Given the description of an element on the screen output the (x, y) to click on. 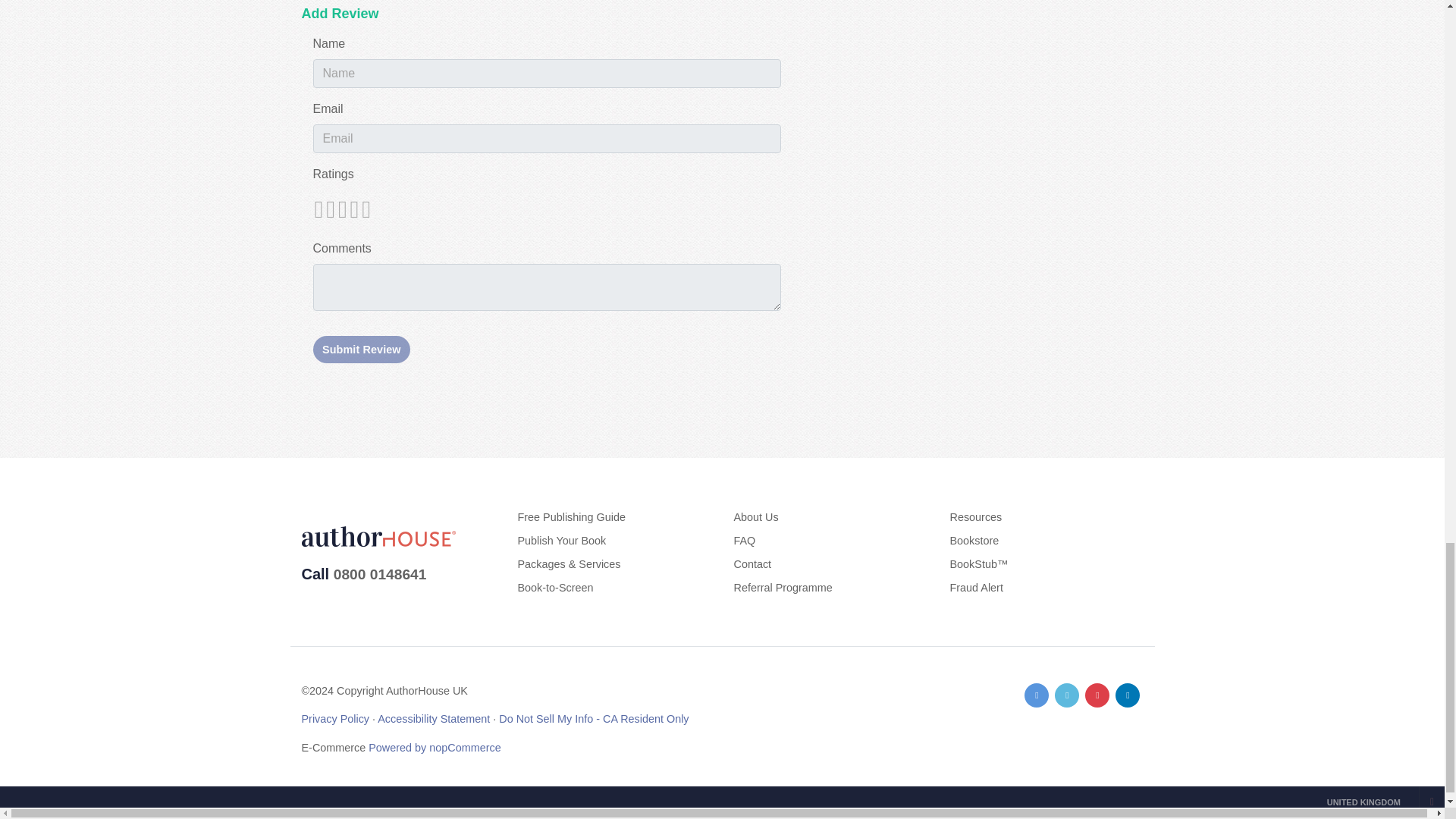
Not Rated (342, 208)
Free Publishing Guide (570, 517)
0800 0148641 (379, 574)
Submit Review (361, 349)
Do Not Sell My Info - CA Resident Only (593, 718)
Submit Review (361, 349)
Publish Your Book (560, 540)
Book-to-Screen (554, 587)
